Given the description of an element on the screen output the (x, y) to click on. 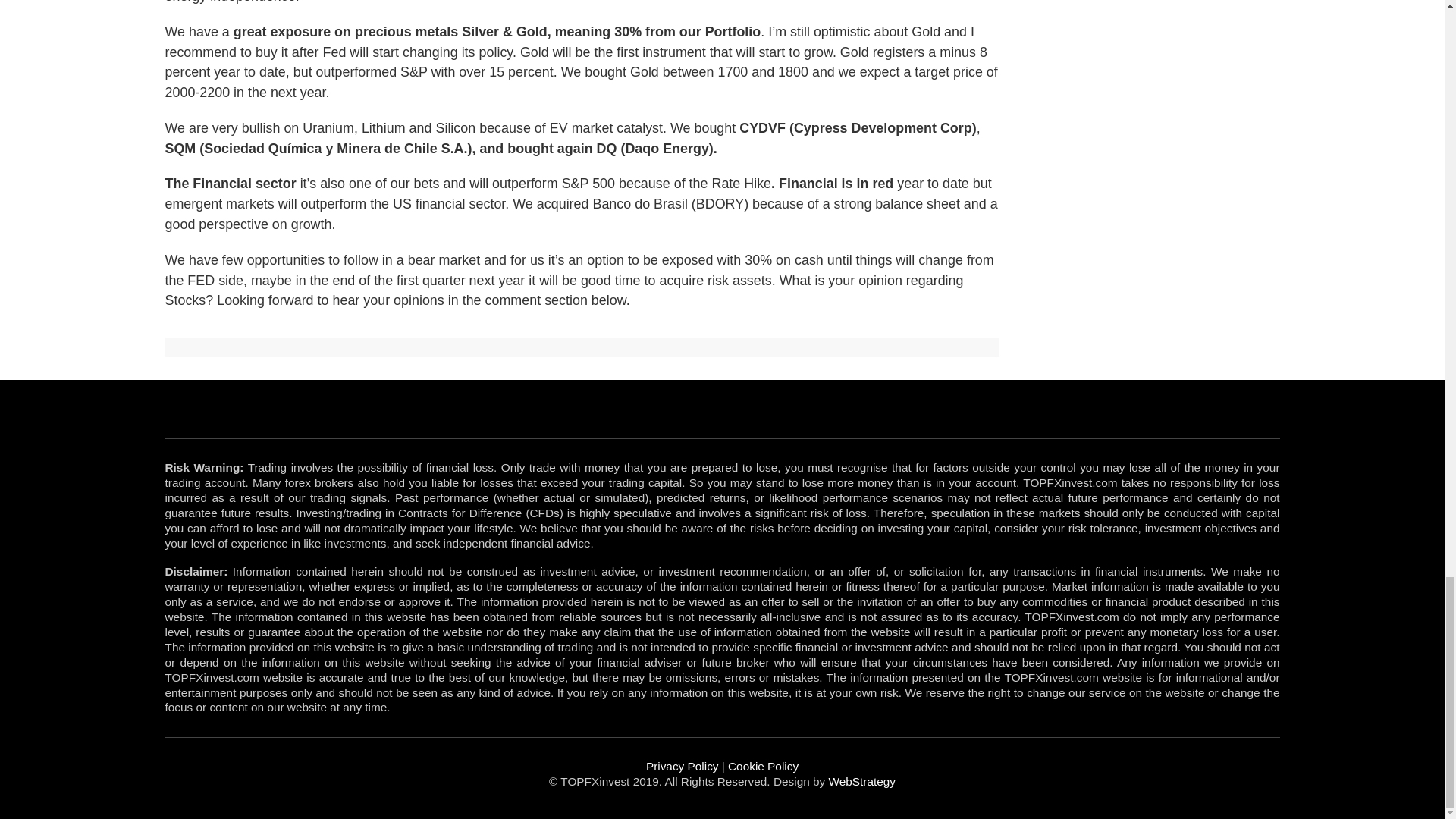
Privacy Policy (682, 766)
WebStrategy (861, 780)
Cookie Policy (762, 766)
